Given the description of an element on the screen output the (x, y) to click on. 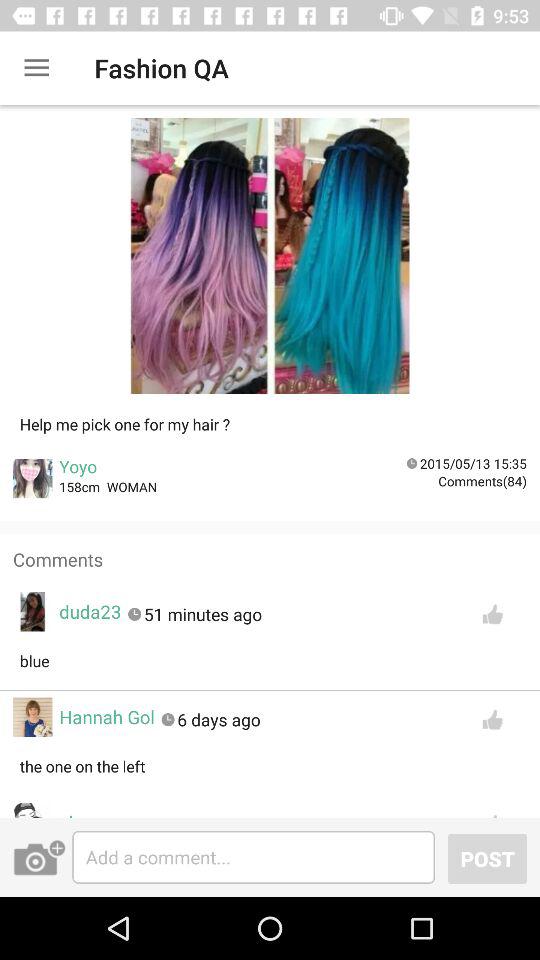
like this comment (492, 614)
